Given the description of an element on the screen output the (x, y) to click on. 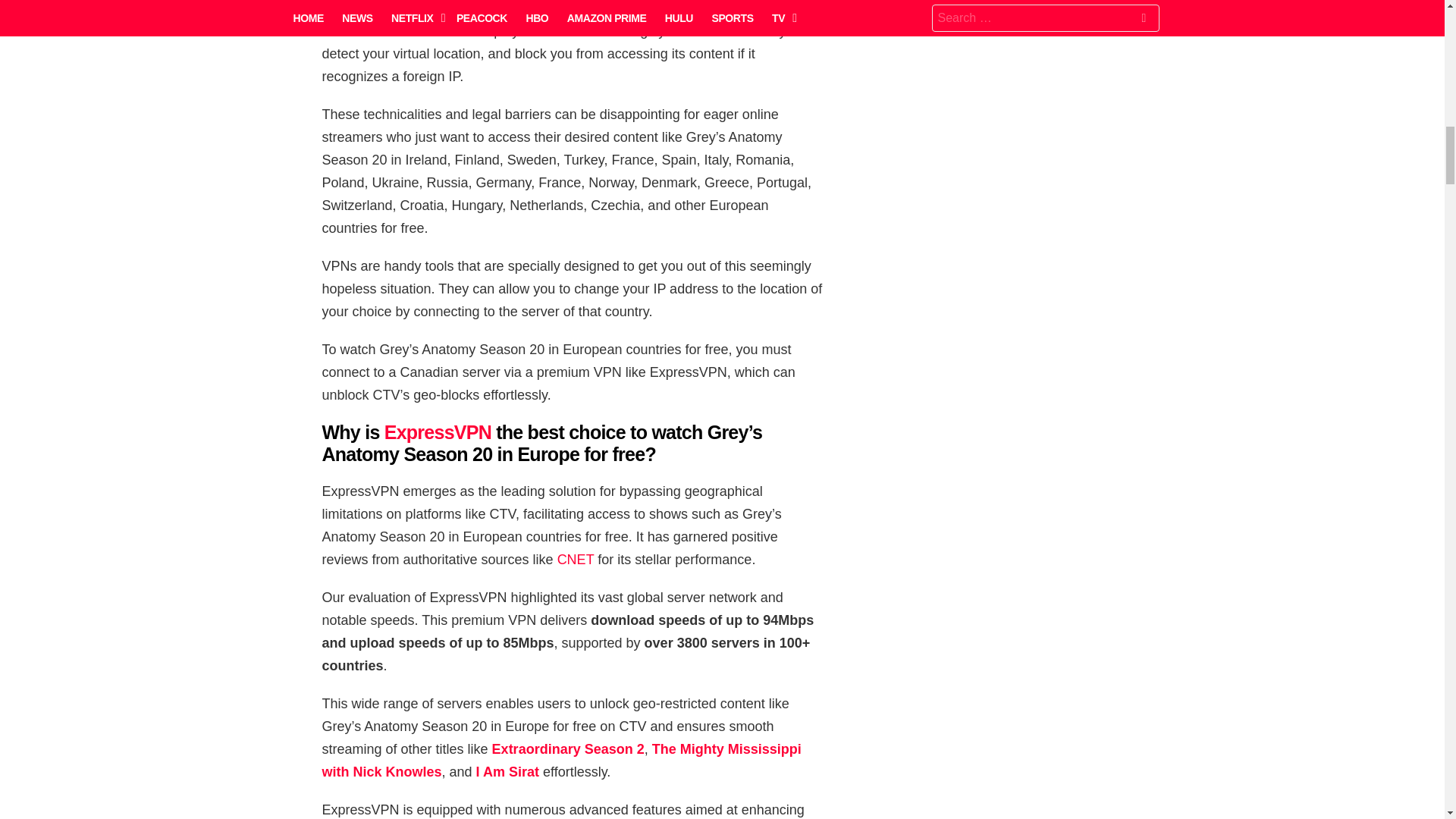
ExpressVPN (438, 432)
The Mighty Mississippi with Nick Knowles (560, 760)
I Am Sirat (507, 771)
CNET (575, 559)
Extraordinary Season 2 (568, 749)
